Given the description of an element on the screen output the (x, y) to click on. 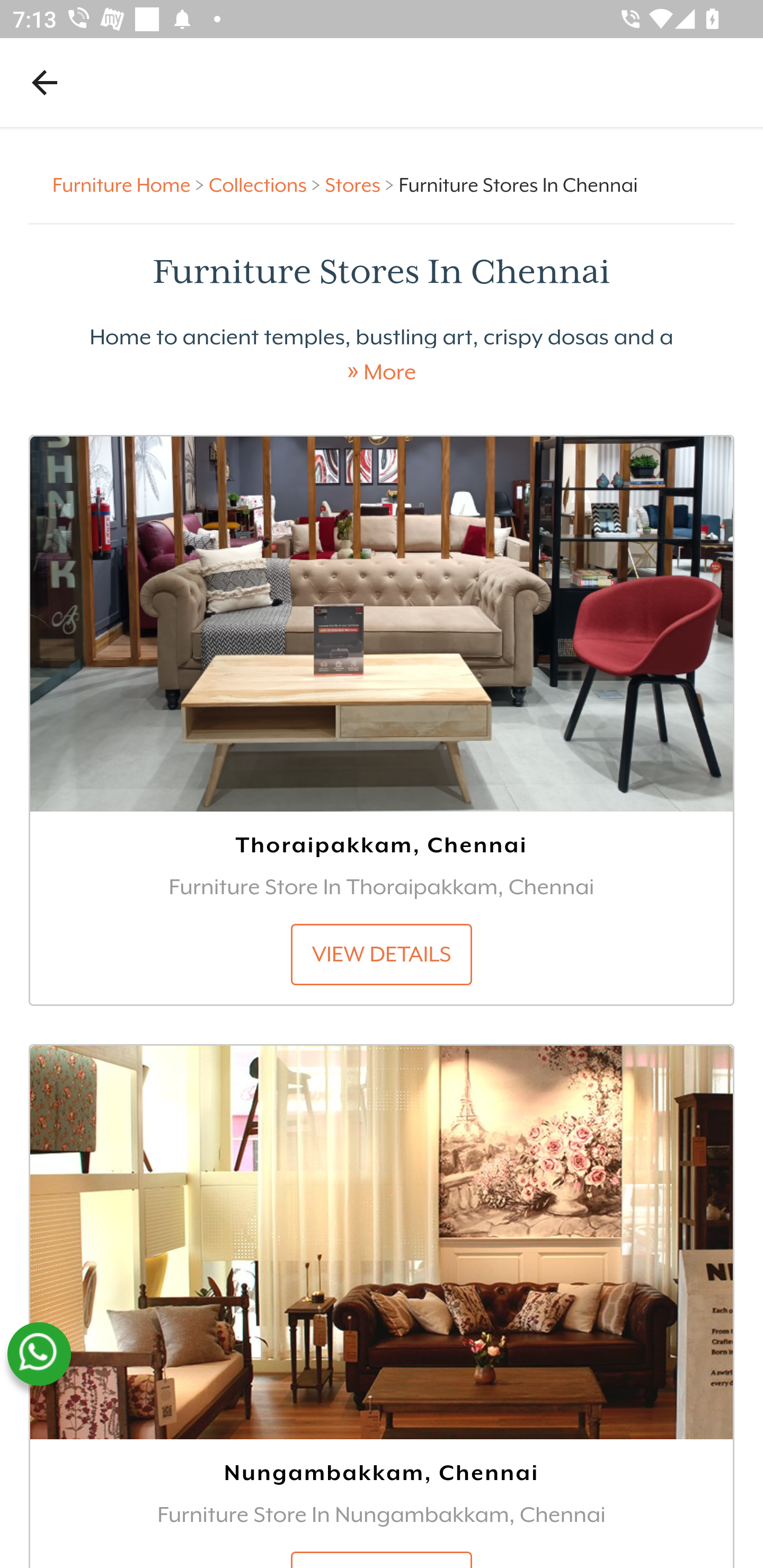
Navigate up (44, 82)
Furniture Home >  Furniture Home  >  (130, 184)
Collections >  Collections  >  (266, 184)
Stores >  Stores  >  (361, 184)
» More (381, 372)
VIEW DETAILS (381, 953)
whatsapp (38, 1353)
